Given the description of an element on the screen output the (x, y) to click on. 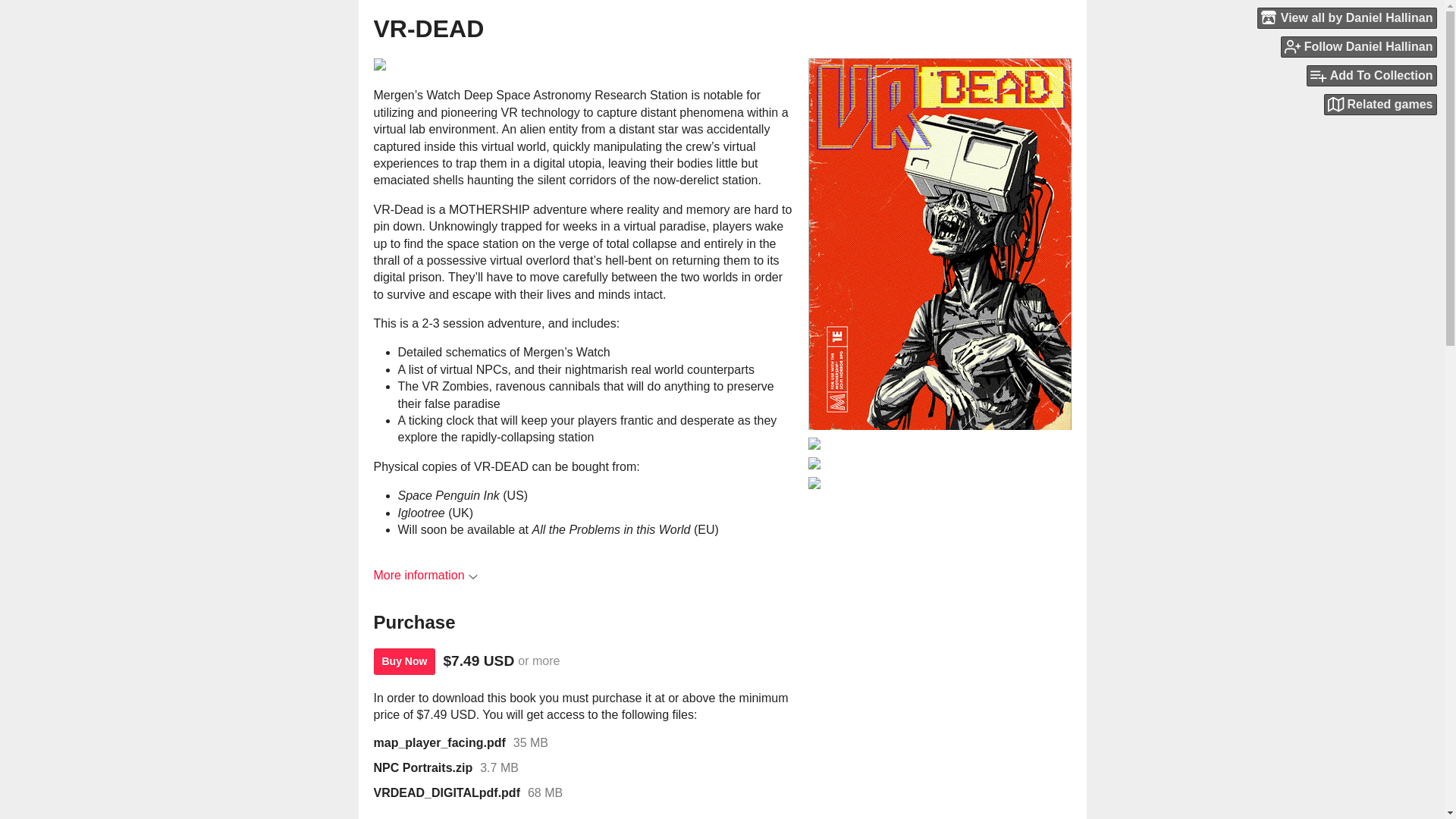
Buy Now (403, 661)
Related games (1380, 104)
View all by Daniel Hallinan (1347, 17)
Follow Daniel Hallinan (1359, 46)
More information (424, 574)
NPC Portraits.zip (421, 767)
Add To Collection (1371, 75)
